Given the description of an element on the screen output the (x, y) to click on. 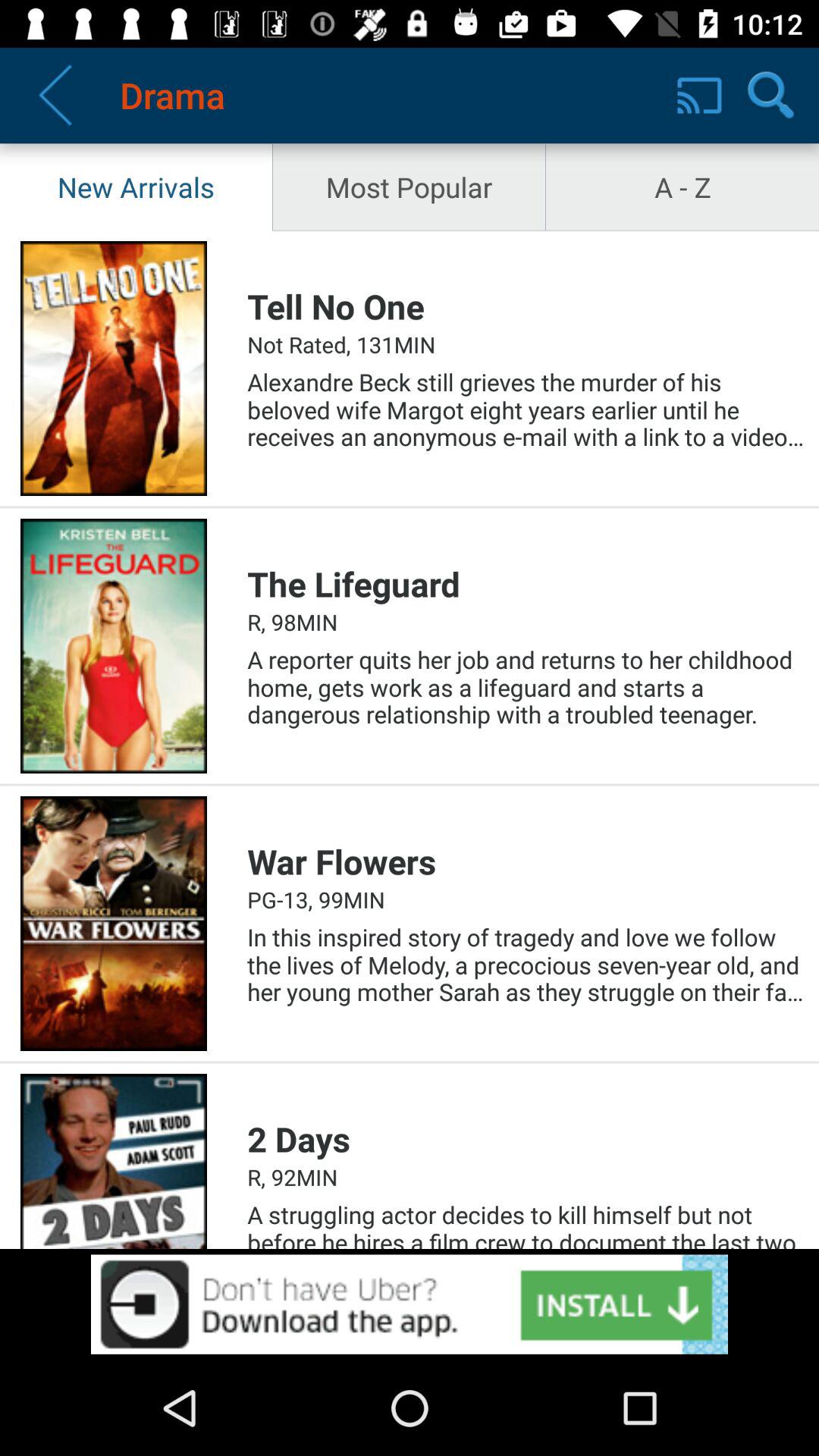
install application (409, 1304)
